Given the description of an element on the screen output the (x, y) to click on. 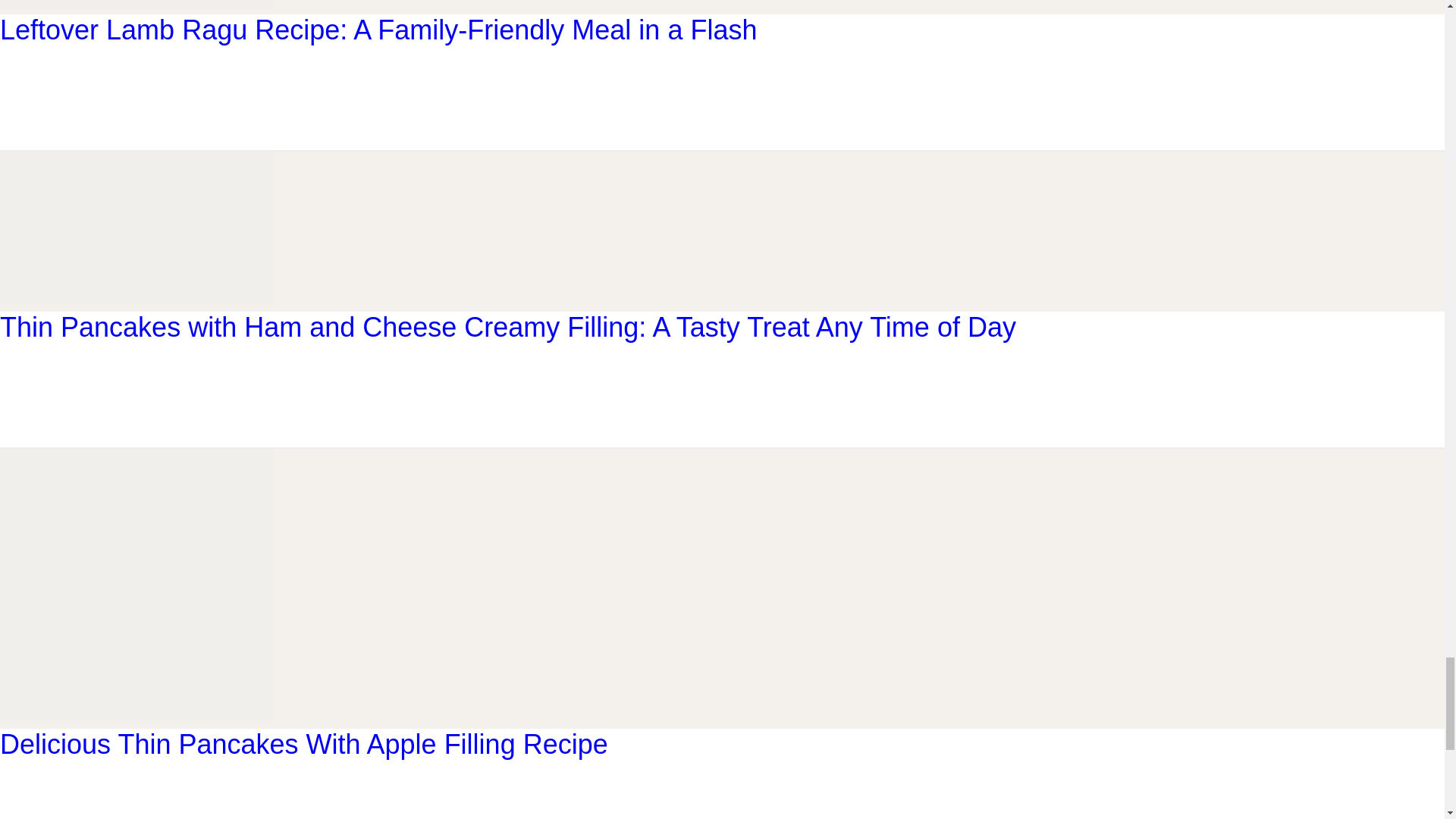
Delicious Thin Pancakes With Apple Filling Recipe (136, 717)
Leftover Lamb Ragu Recipe: A Family-Friendly Meal in a Flash (378, 29)
Leftover Lamb Ragu Recipe: A Family-Friendly Meal in a Flash (136, 5)
